Given the description of an element on the screen output the (x, y) to click on. 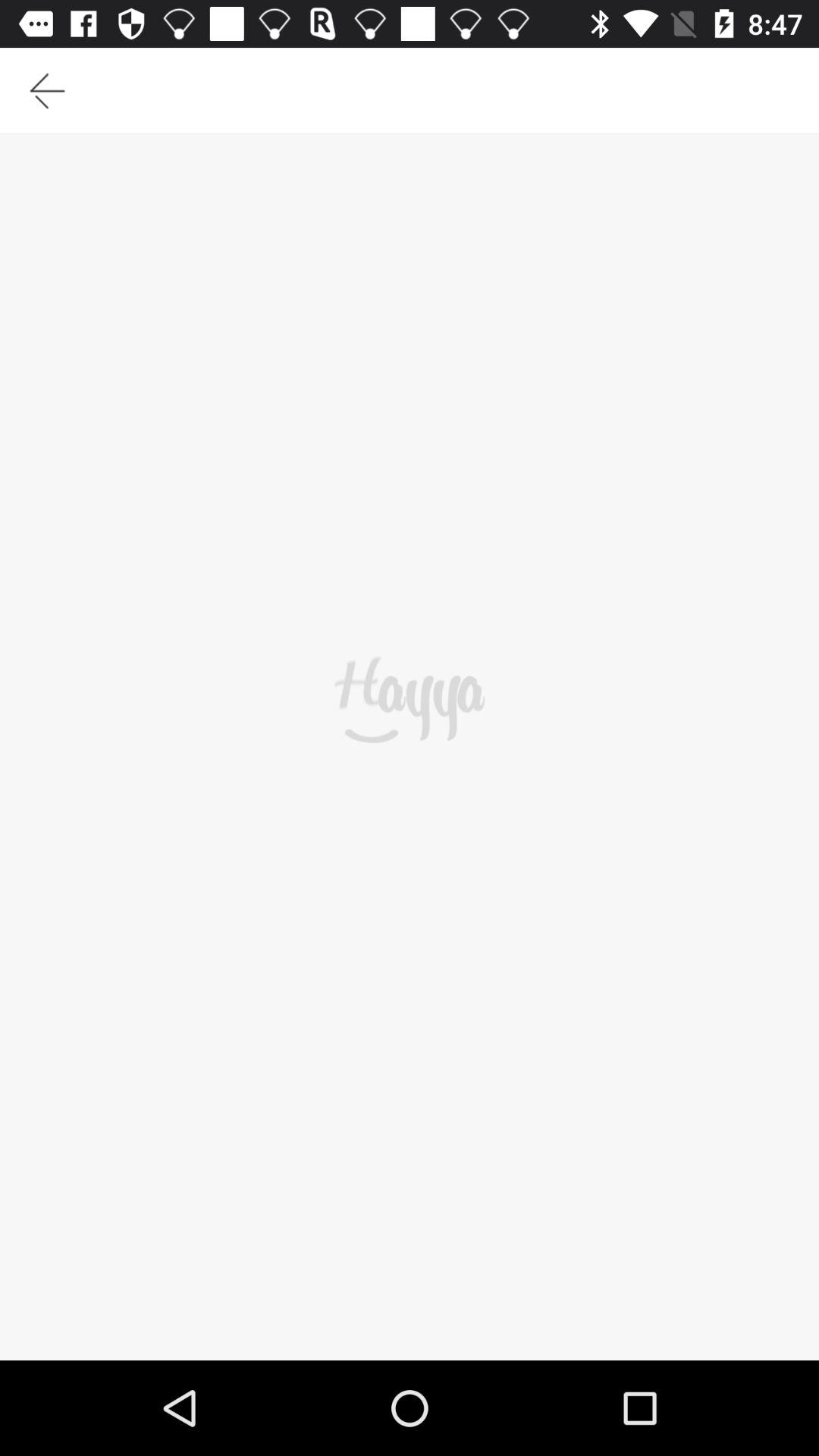
turn on the icon at the top left corner (47, 90)
